Given the description of an element on the screen output the (x, y) to click on. 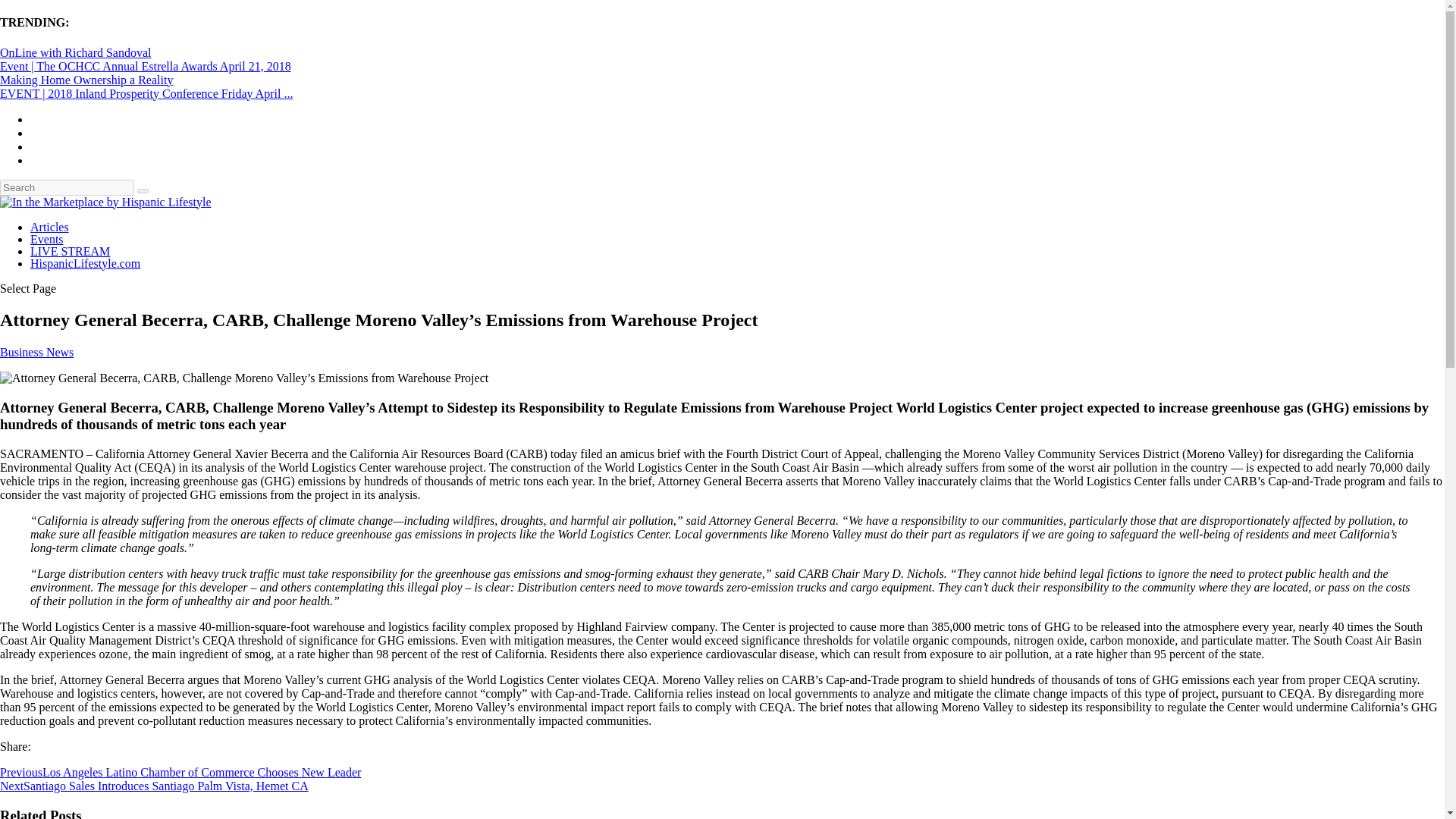
Articles (49, 226)
Events (47, 238)
Search for: (66, 187)
OnLine with Richard Sandoval (75, 51)
Making Home Ownership a Reality (86, 79)
